Given the description of an element on the screen output the (x, y) to click on. 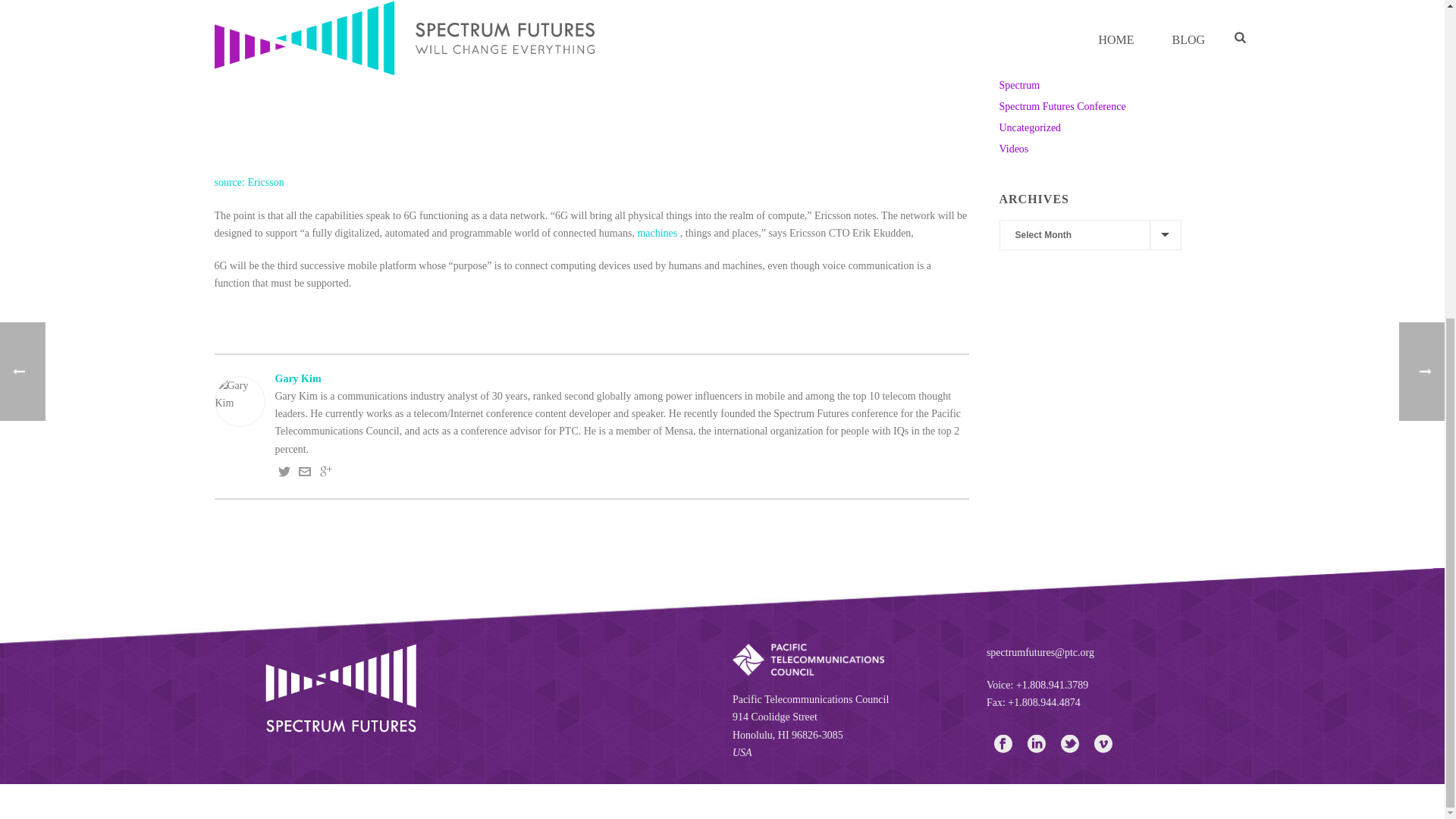
Videos (1013, 149)
Spectrum (1019, 85)
Uncategorized (1029, 128)
Get in touch with me via email (304, 473)
Internet Access (1031, 21)
machines (657, 233)
Business Model (1032, 3)
Gary Kim (591, 378)
News (1010, 64)
Spectrum Futures Conference (1061, 106)
